Given the description of an element on the screen output the (x, y) to click on. 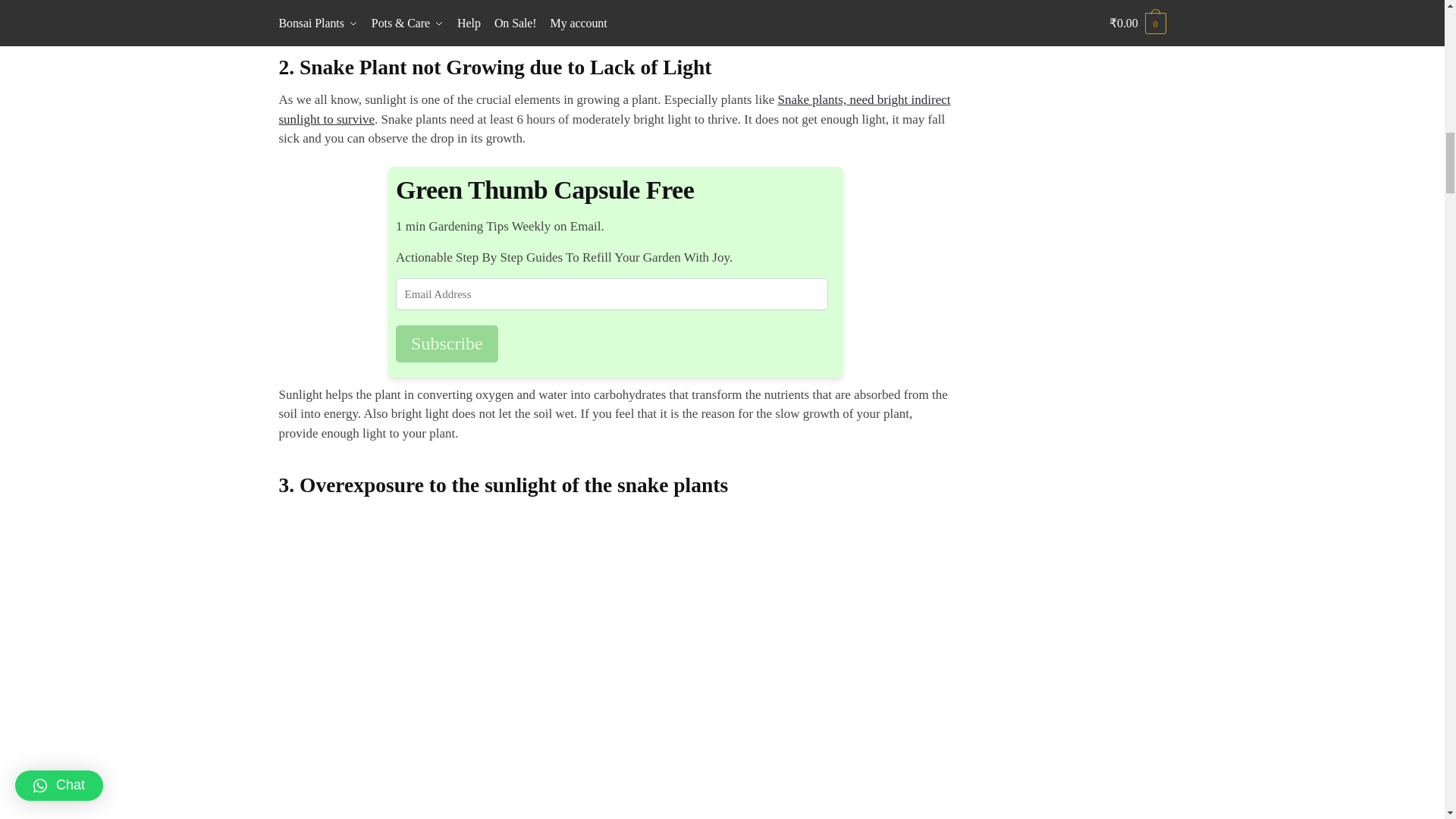
Snake plants, need bright indirect sunlight to survive (614, 109)
Subscribe (446, 343)
